Given the description of an element on the screen output the (x, y) to click on. 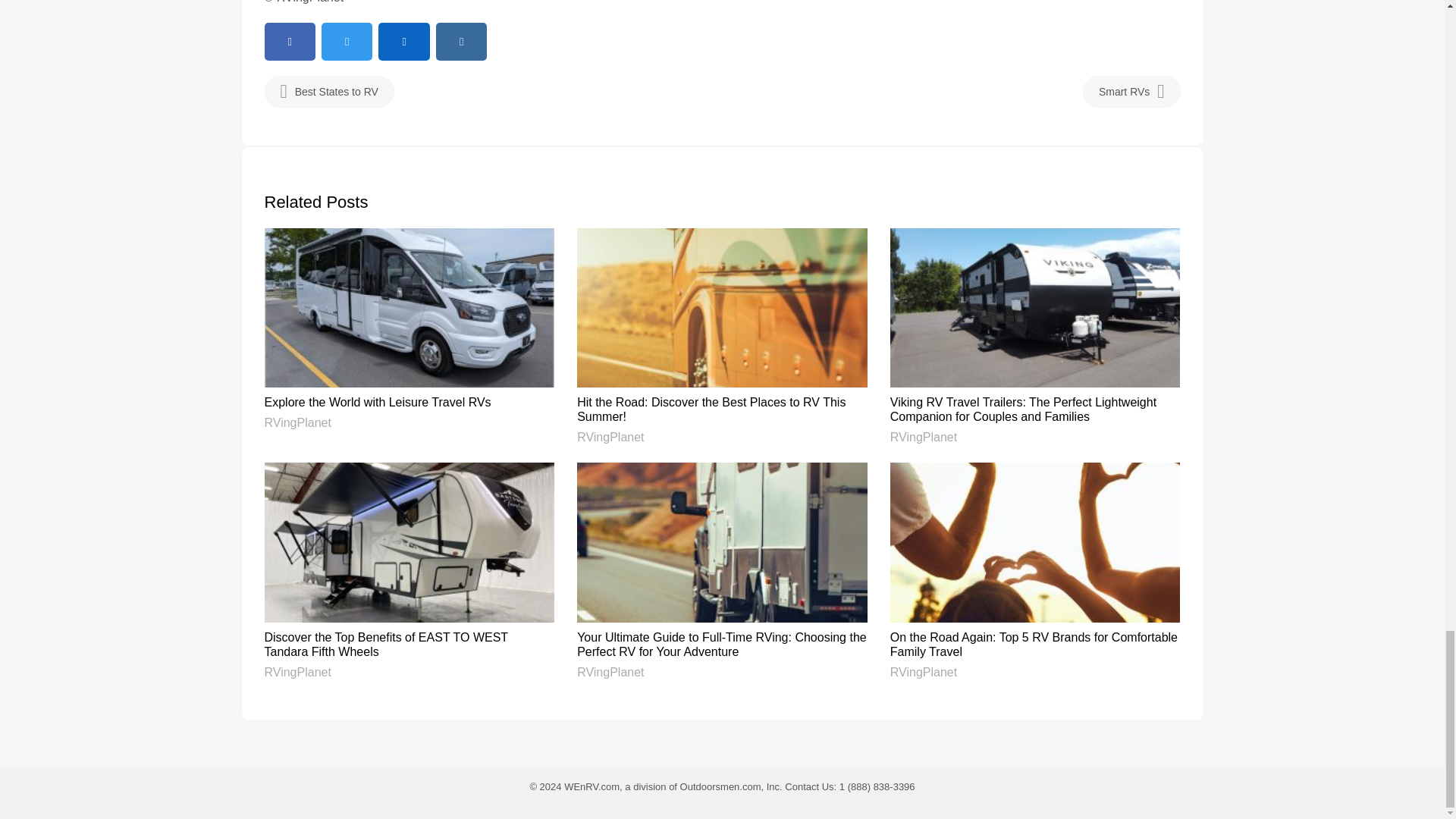
RVingPlanet (609, 436)
Explore the World with Leisure Travel RVs (376, 401)
RVingPlanet (296, 422)
Hit the Road: Discover the Best Places to RV This Summer! (710, 409)
RVingPlanet (922, 436)
Smart RVs (1131, 91)
Best States to RV (328, 91)
